Given the description of an element on the screen output the (x, y) to click on. 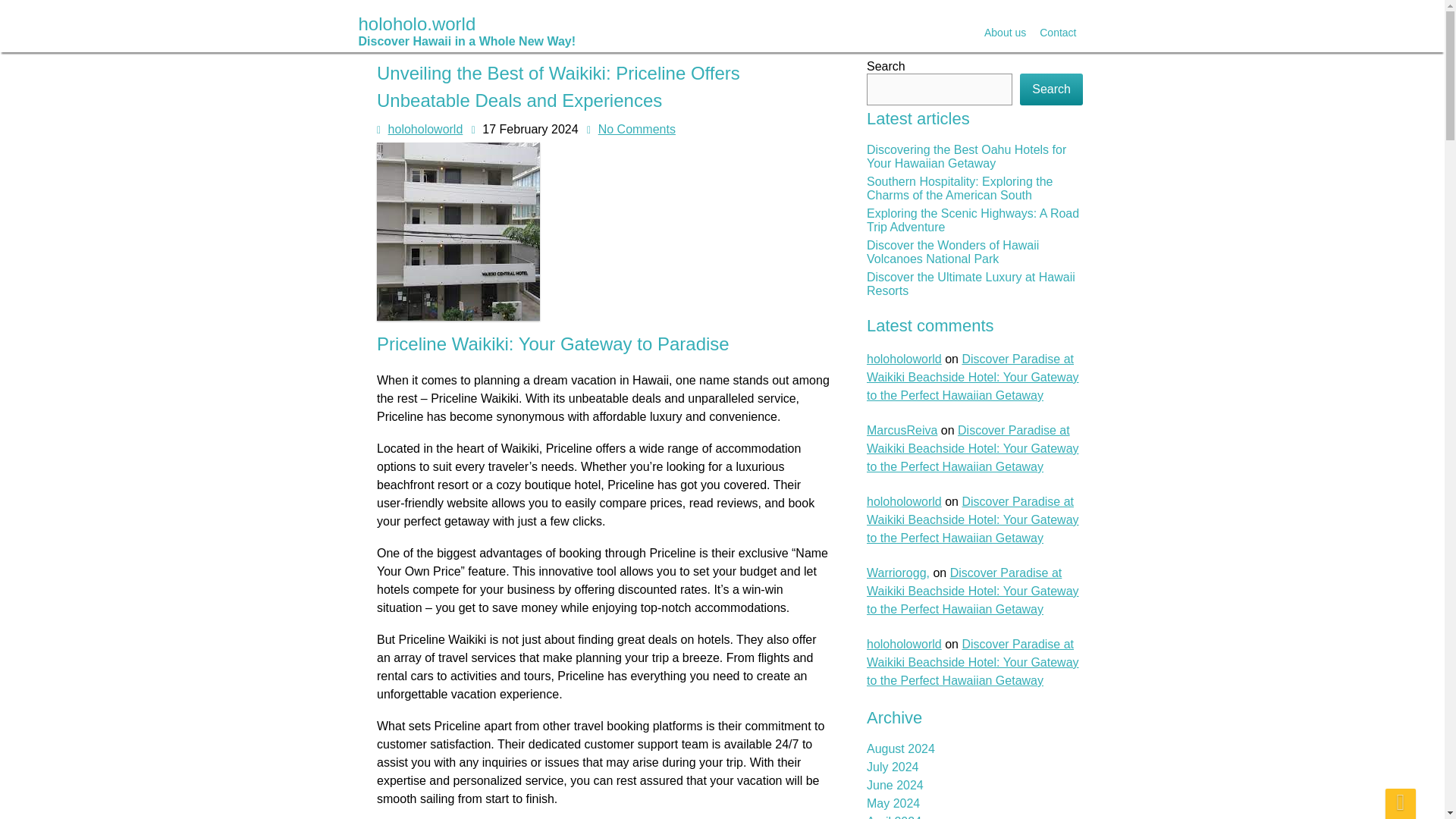
About us (1004, 32)
Posts by holoholoworld (425, 128)
Contact (1057, 32)
holoholo.world (466, 30)
holoholo.world (466, 30)
